Given the description of an element on the screen output the (x, y) to click on. 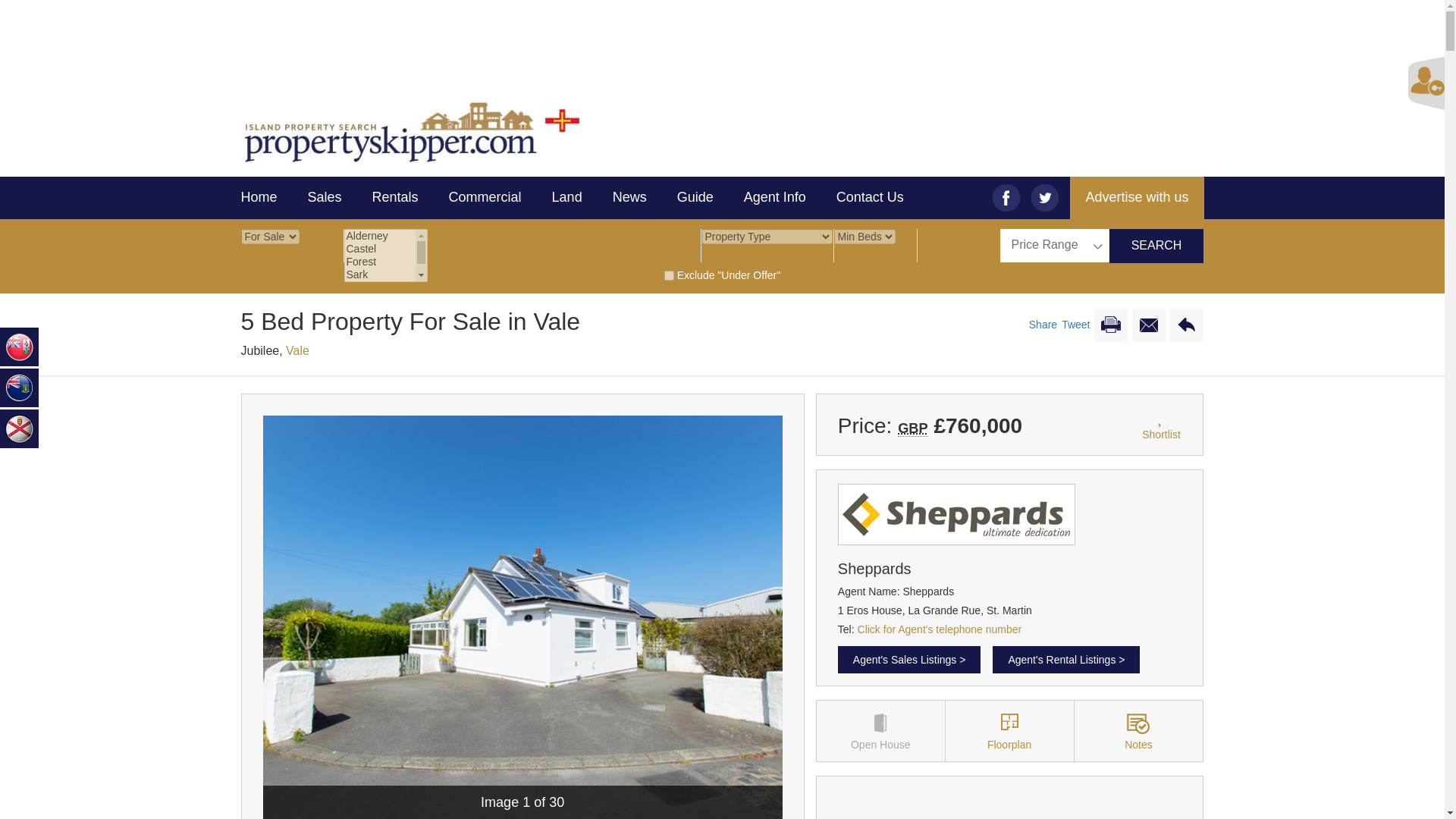
Land (566, 197)
Sales (324, 197)
-1 (668, 275)
Bermuda Real Estate (19, 345)
Jersey Property (19, 427)
Advertise with us (1137, 197)
Home (266, 197)
Rentals (394, 197)
Commercial (485, 197)
News (629, 197)
